Given the description of an element on the screen output the (x, y) to click on. 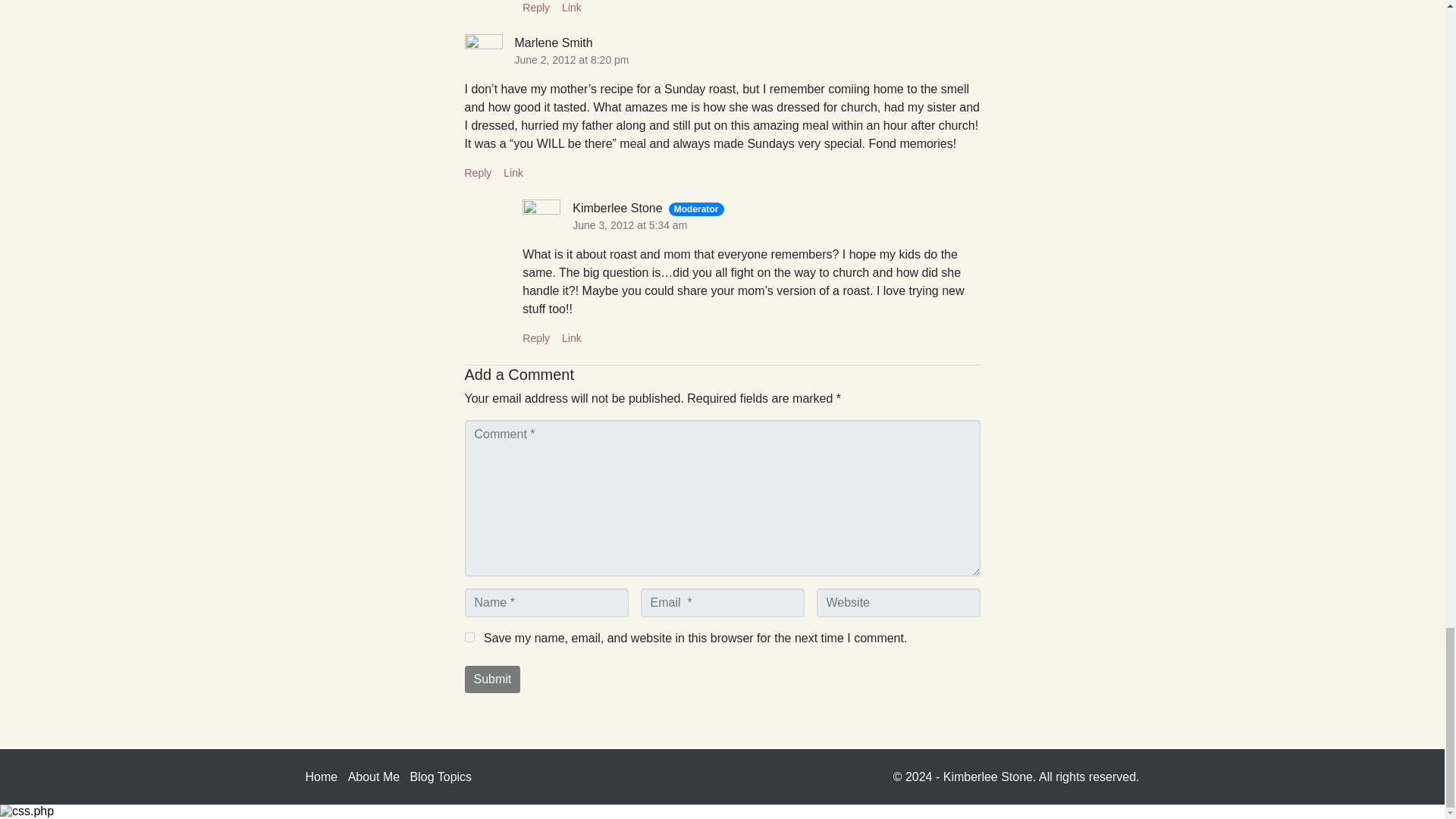
yes (469, 637)
Link (571, 337)
Reply (536, 7)
Reply (536, 337)
Reply (478, 173)
Link (512, 173)
Link (571, 7)
